Given the description of an element on the screen output the (x, y) to click on. 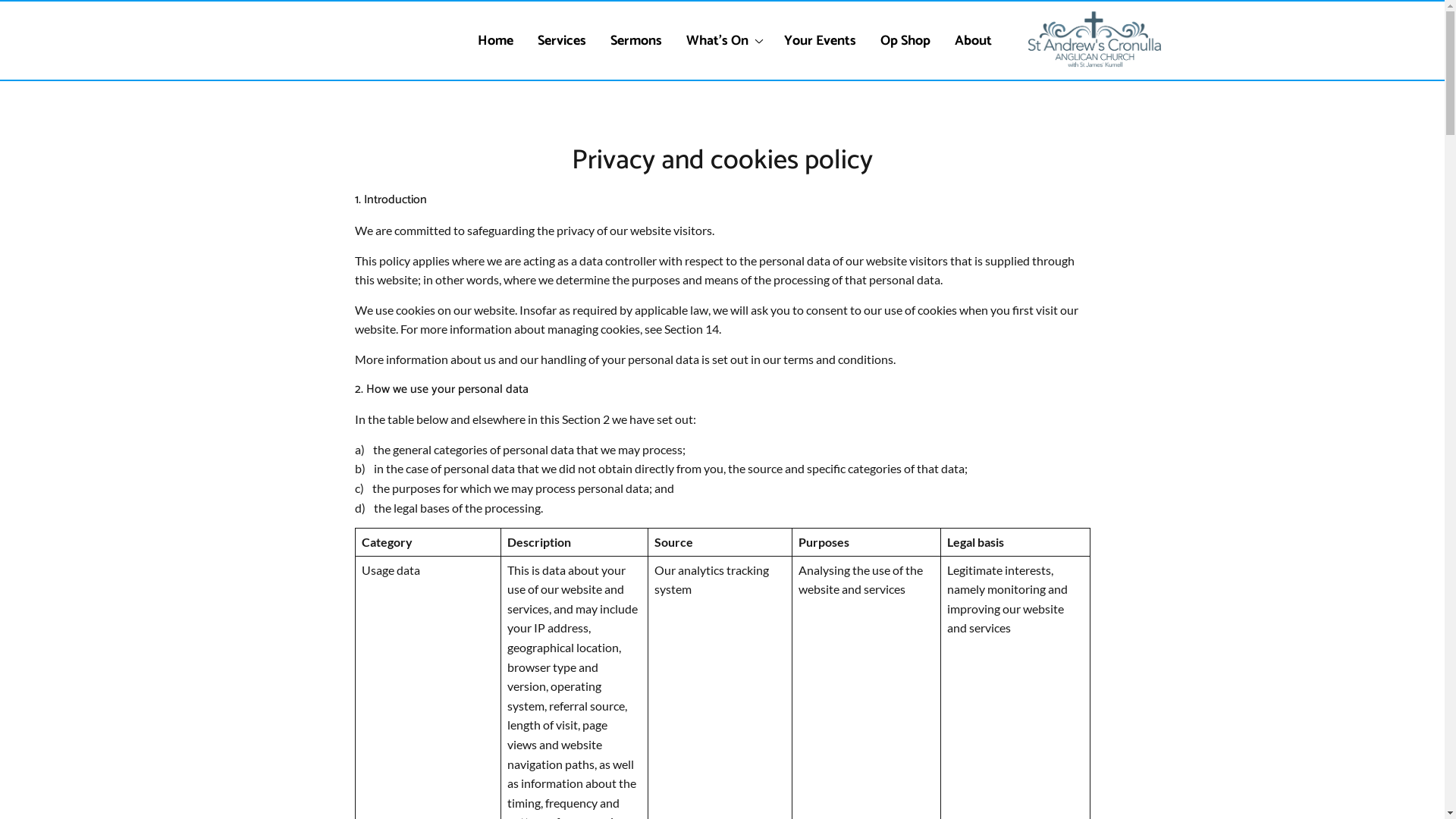
Home Element type: text (494, 40)
About Element type: text (973, 40)
Op Shop Element type: text (905, 40)
Sermons Element type: text (636, 40)
Services Element type: text (561, 40)
Your Events Element type: text (819, 40)
What'S On Element type: text (722, 40)
